Given the description of an element on the screen output the (x, y) to click on. 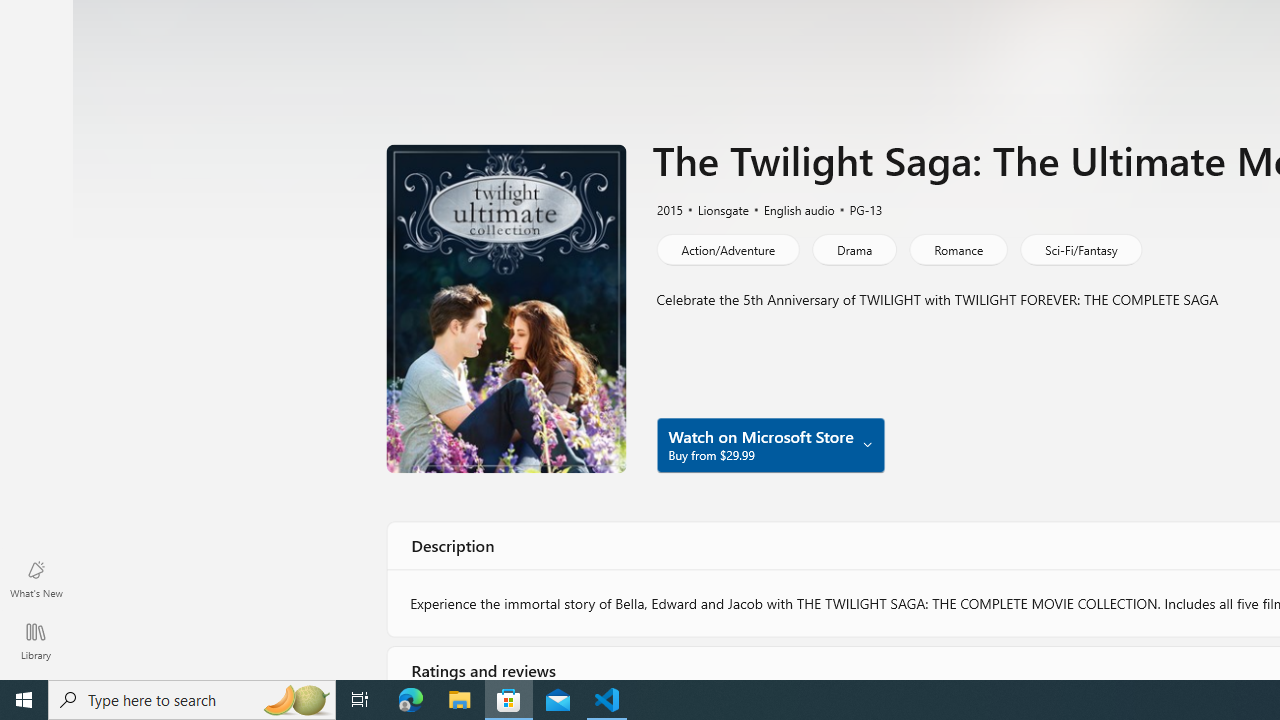
Romance (957, 248)
Sci-Fi/Fantasy (1080, 248)
2015 (667, 208)
Lionsgate (714, 208)
Action/Adventure (726, 248)
PG-13 (857, 208)
English audio (790, 208)
Drama (854, 248)
Watch on Microsoft Store Buy from $29.99 (769, 444)
